Given the description of an element on the screen output the (x, y) to click on. 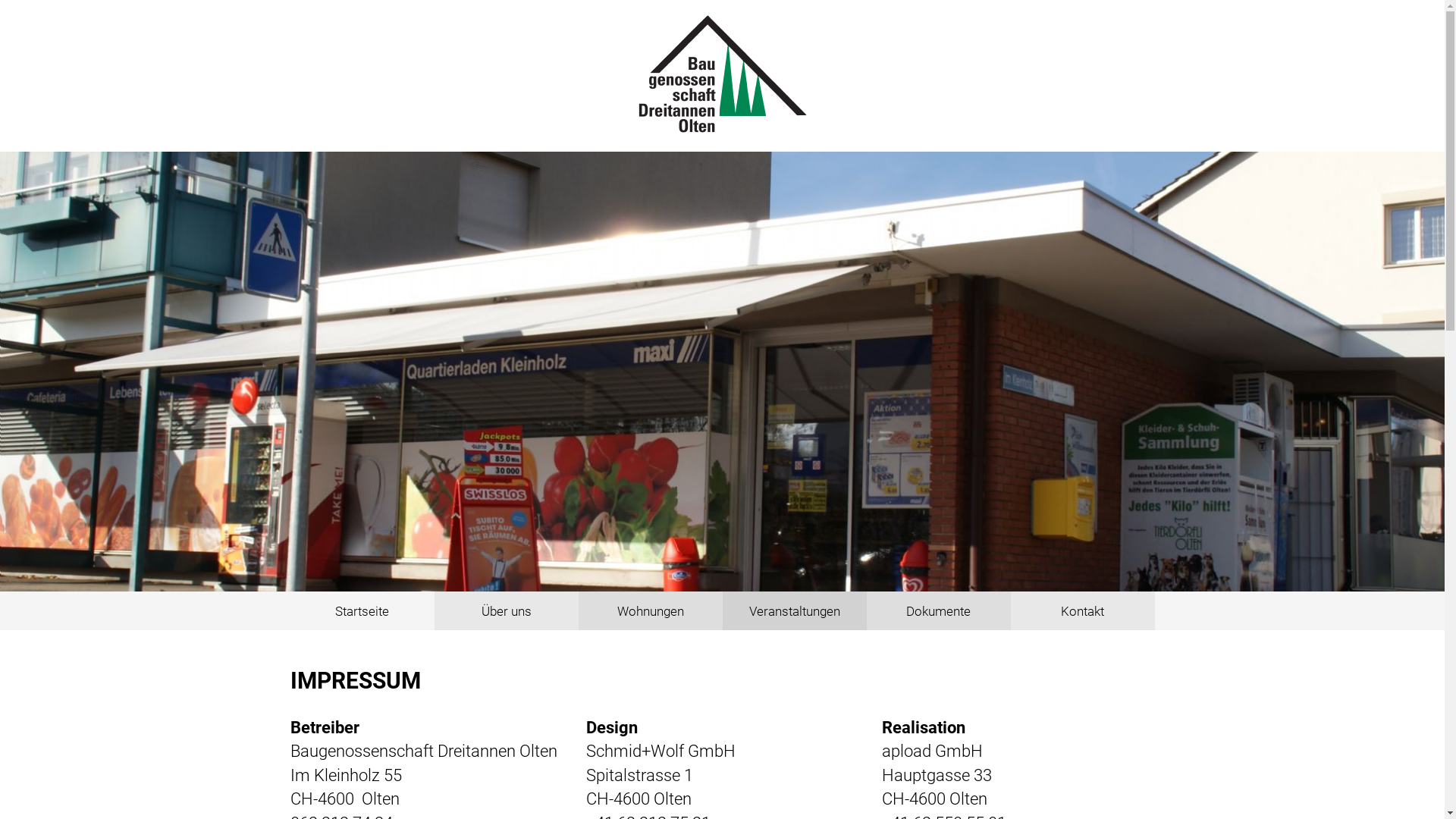
Veranstaltungen Element type: text (793, 610)
Wohnungen Element type: text (649, 610)
Kontakt Element type: text (1082, 610)
Startseite Element type: text (361, 610)
Starseite: Baugenossenschaft Dreitannen Olten Element type: hover (722, 73)
Dokumente Element type: text (938, 610)
